Given the description of an element on the screen output the (x, y) to click on. 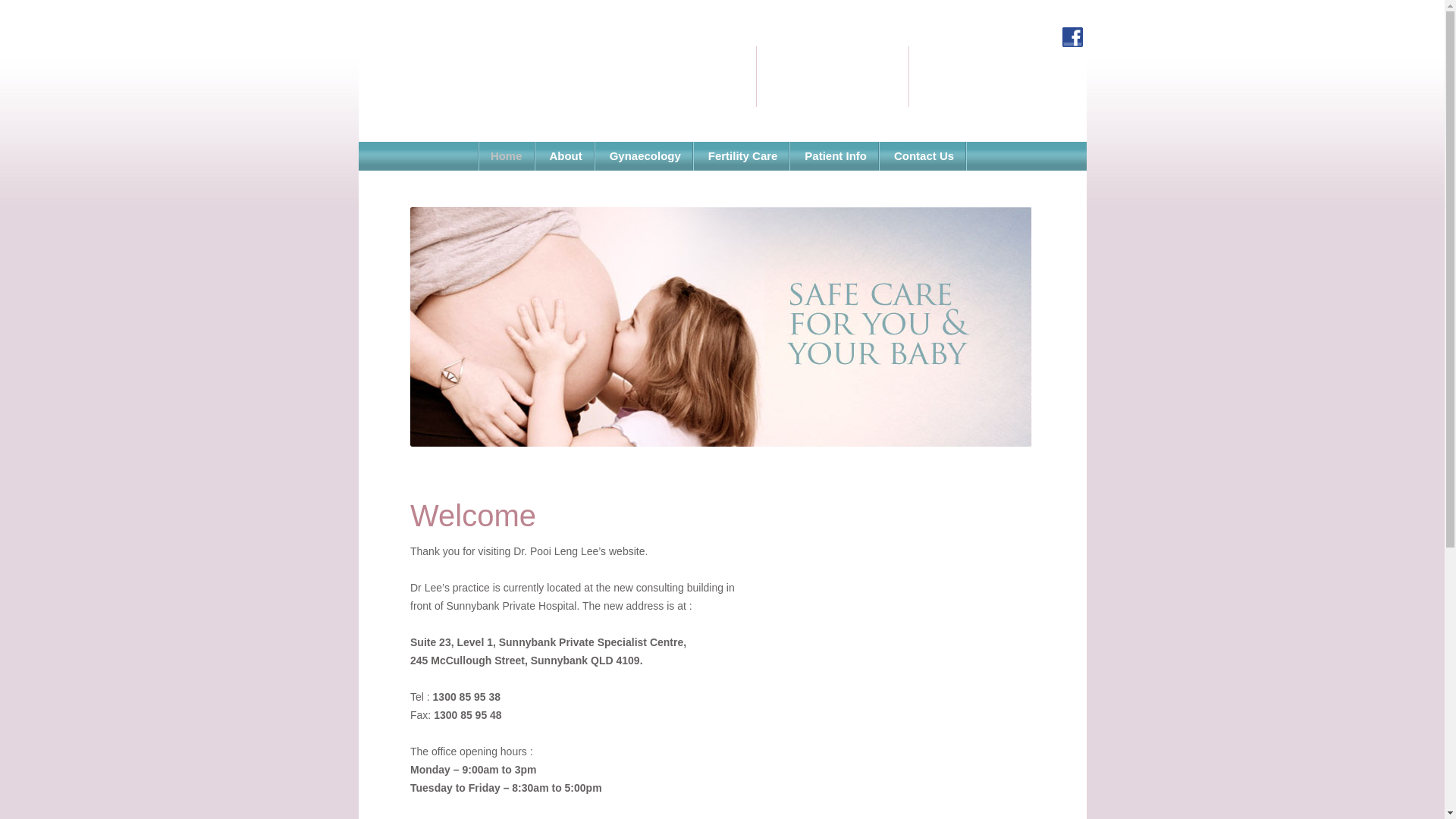
Gynaecology Element type: text (645, 155)
Fertility Care Element type: text (743, 155)
Patient Info Element type: text (835, 155)
Home Element type: text (506, 155)
Skip to content Element type: text (756, 146)
Contact Us Element type: text (924, 155)
About Element type: text (565, 155)
